Given the description of an element on the screen output the (x, y) to click on. 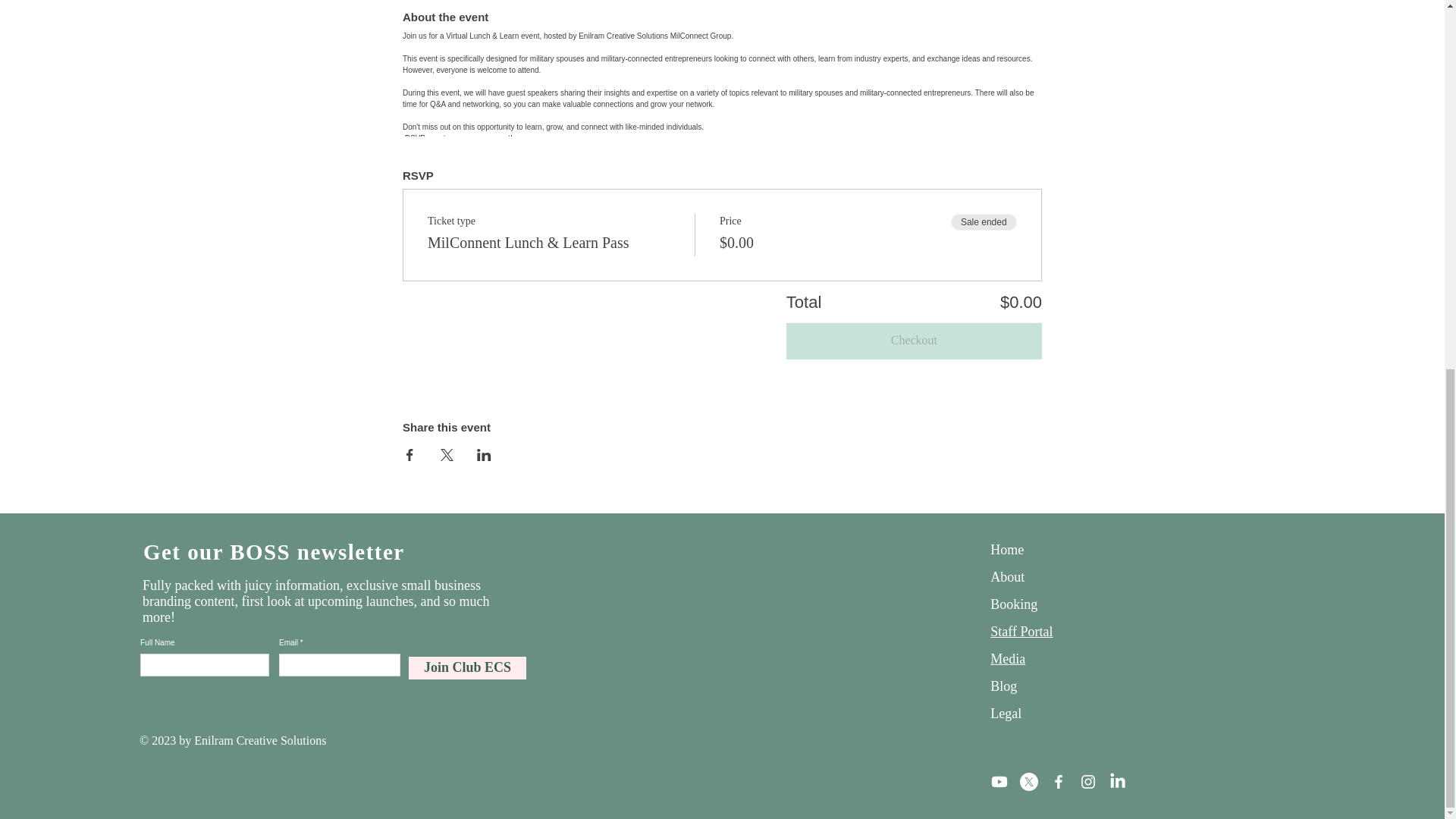
Staff Portal (1021, 631)
Media (1007, 658)
Booking (1013, 604)
Checkout (914, 340)
About (1007, 576)
Blog (1003, 685)
Legal (1006, 713)
Home (1006, 549)
Join Club ECS (467, 667)
